Given the description of an element on the screen output the (x, y) to click on. 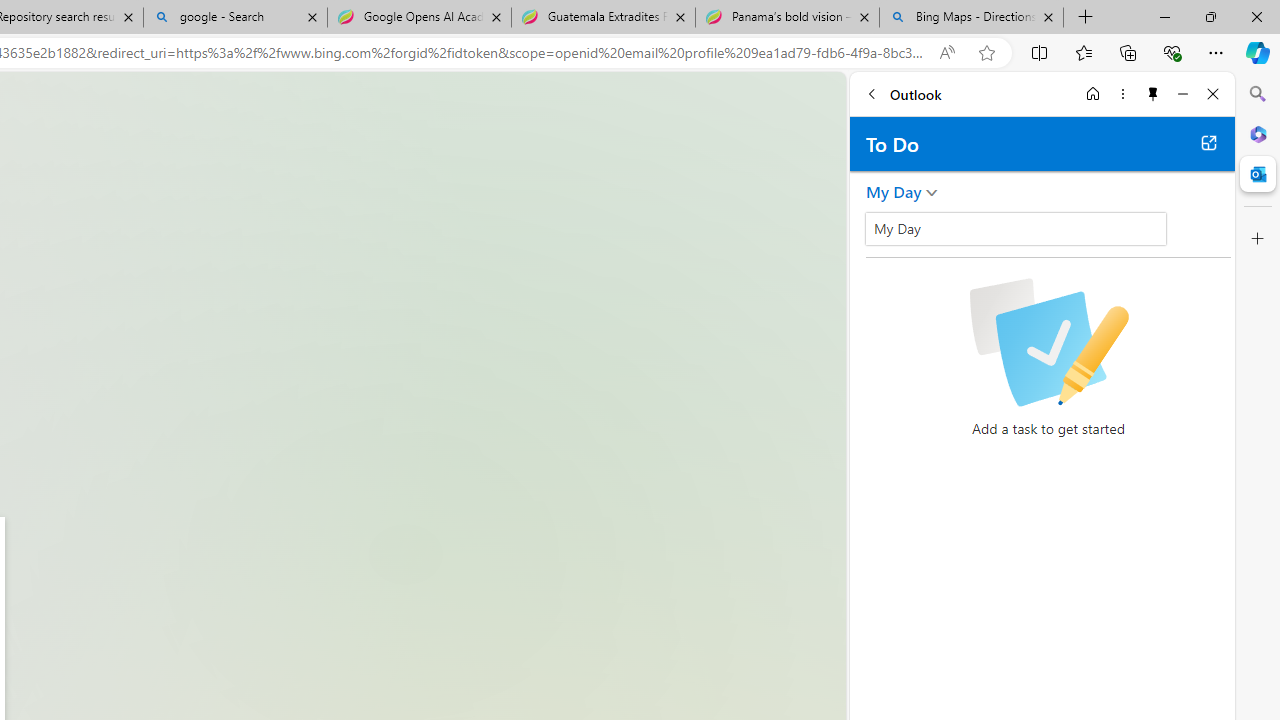
Open in new tab (1208, 142)
Checkbox with a pencil (1047, 342)
My Day (893, 191)
Add a task (1065, 235)
